Given the description of an element on the screen output the (x, y) to click on. 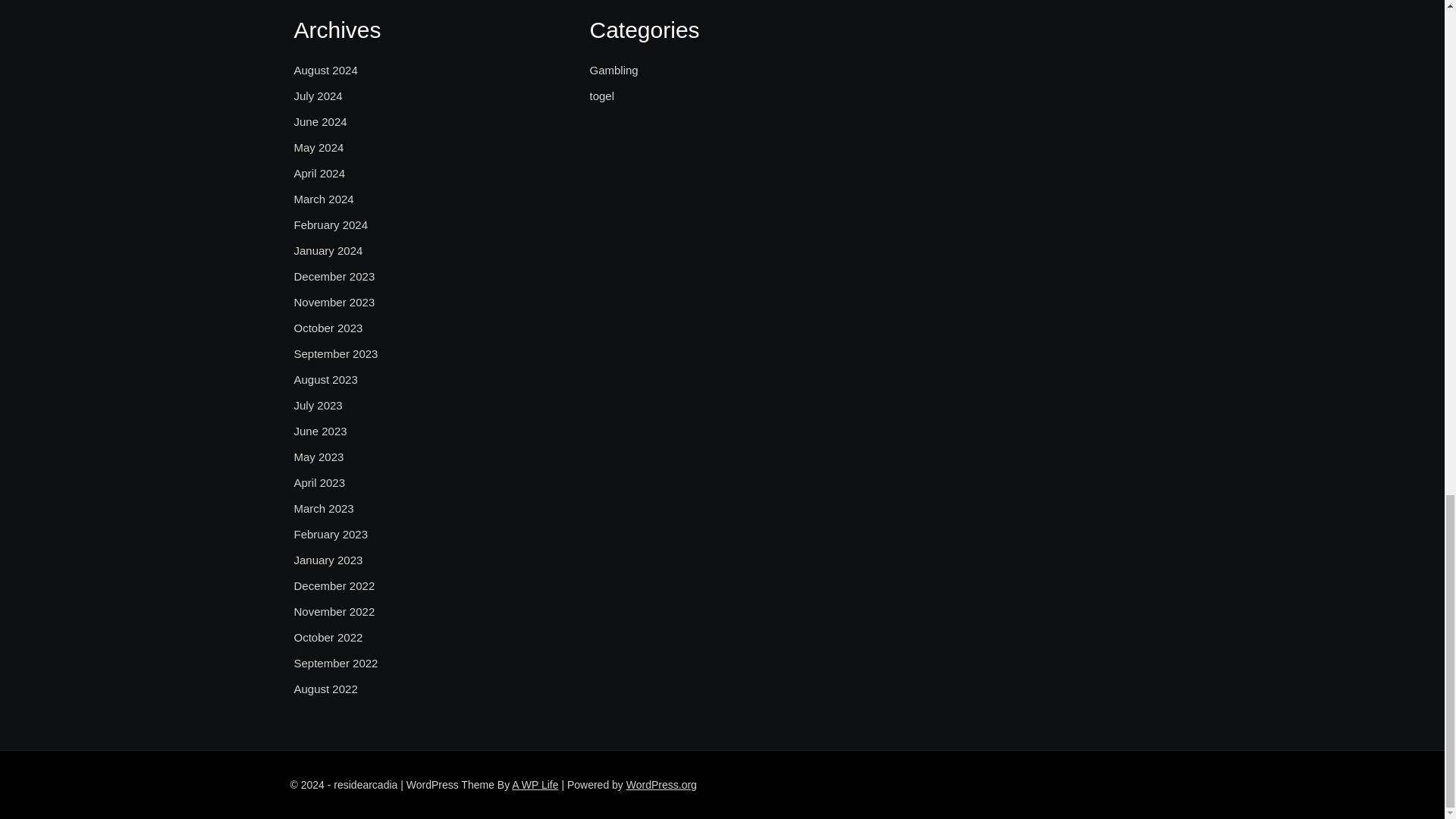
July 2024 (318, 95)
September 2023 (336, 353)
March 2023 (323, 508)
June 2023 (320, 431)
April 2024 (320, 173)
June 2024 (320, 122)
November 2022 (334, 611)
December 2022 (334, 586)
May 2023 (318, 456)
November 2023 (334, 302)
